Given the description of an element on the screen output the (x, y) to click on. 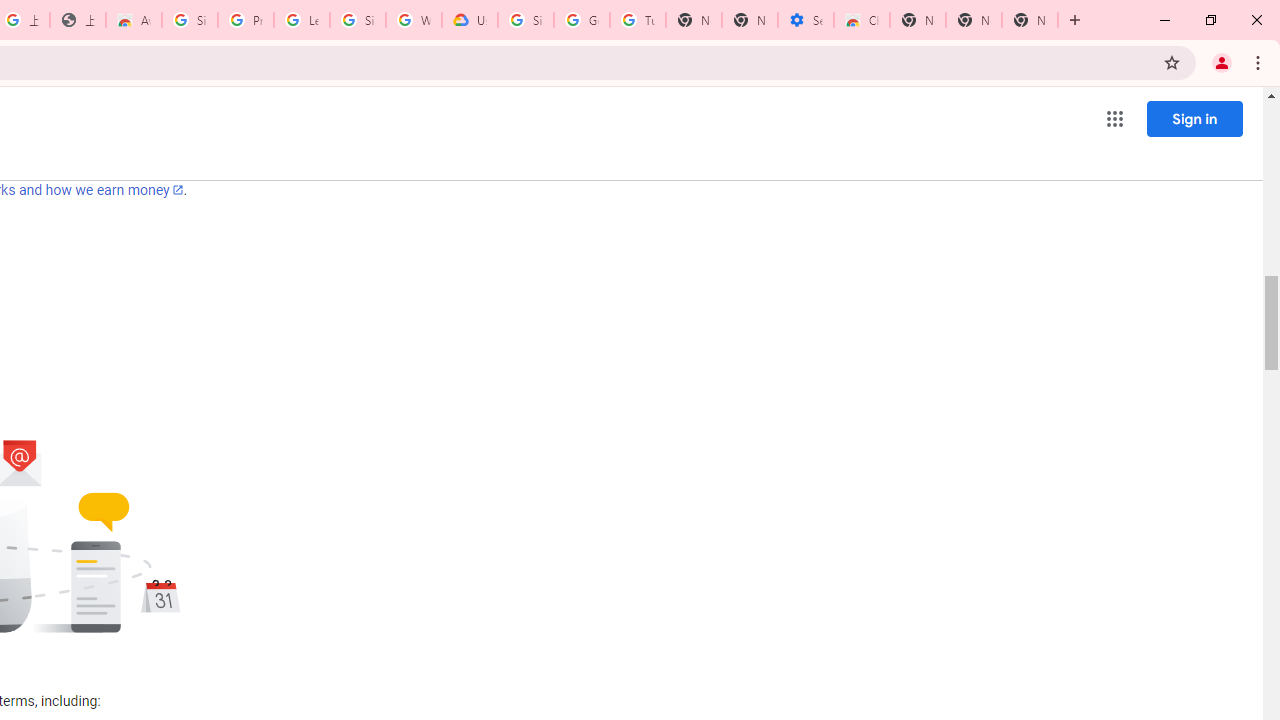
Sign in (1194, 118)
New Tab (1030, 20)
Chrome (1260, 62)
Bookmark this tab (1171, 62)
New Tab (1075, 20)
Awesome Screen Recorder & Screenshot - Chrome Web Store (134, 20)
Who are Google's partners? - Privacy and conditions - Google (413, 20)
Settings - Accessibility (806, 20)
